Given the description of an element on the screen output the (x, y) to click on. 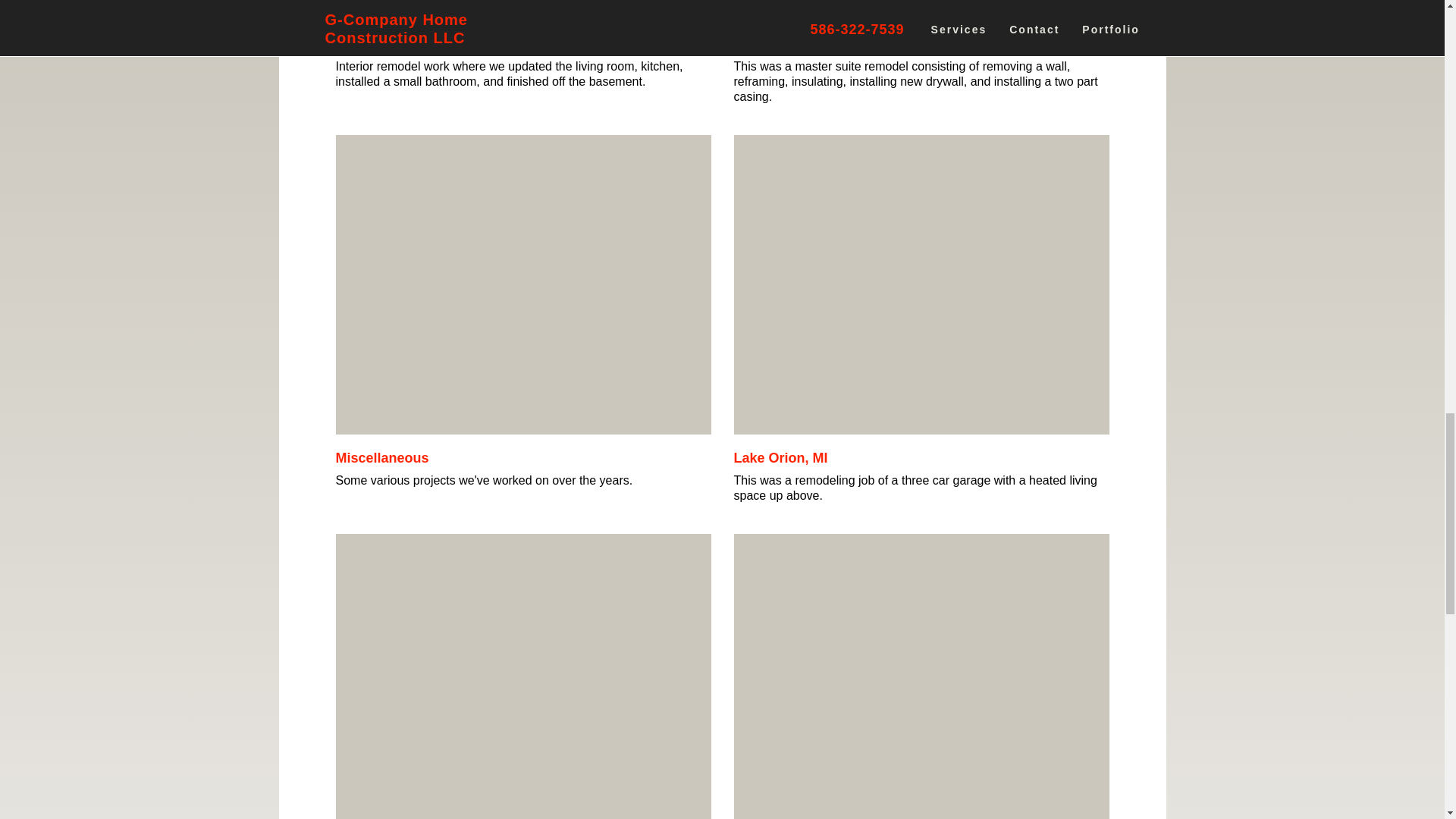
Lake Orion, MI (780, 458)
Miscellaneous (381, 458)
Berkley, MI (370, 43)
Berkley, MI (769, 43)
